Given the description of an element on the screen output the (x, y) to click on. 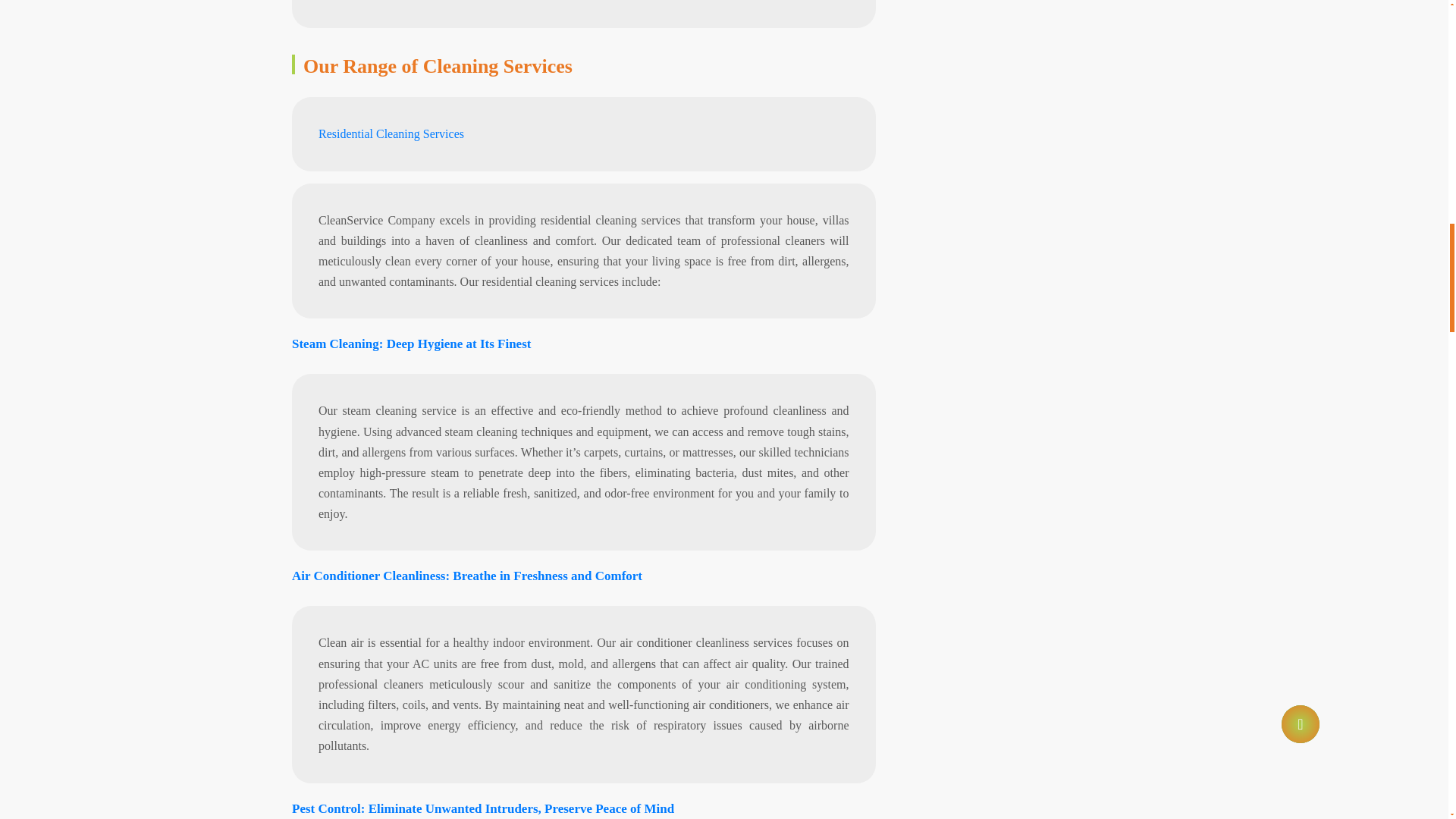
Steam Cleaning: Deep Hygiene at Its Finest (411, 343)
Residential Cleaning Services (391, 133)
